Given the description of an element on the screen output the (x, y) to click on. 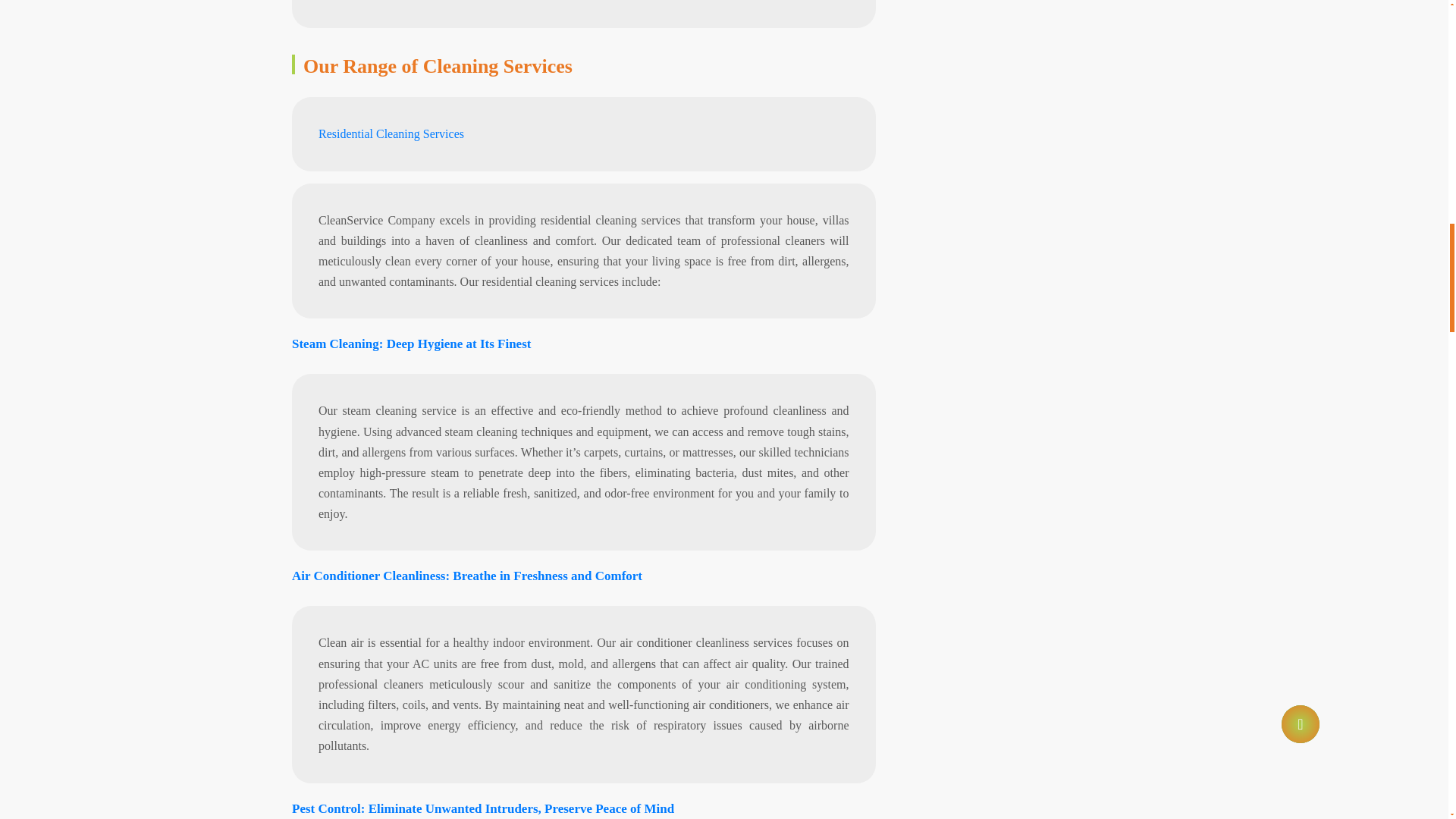
Steam Cleaning: Deep Hygiene at Its Finest (411, 343)
Residential Cleaning Services (391, 133)
